Given the description of an element on the screen output the (x, y) to click on. 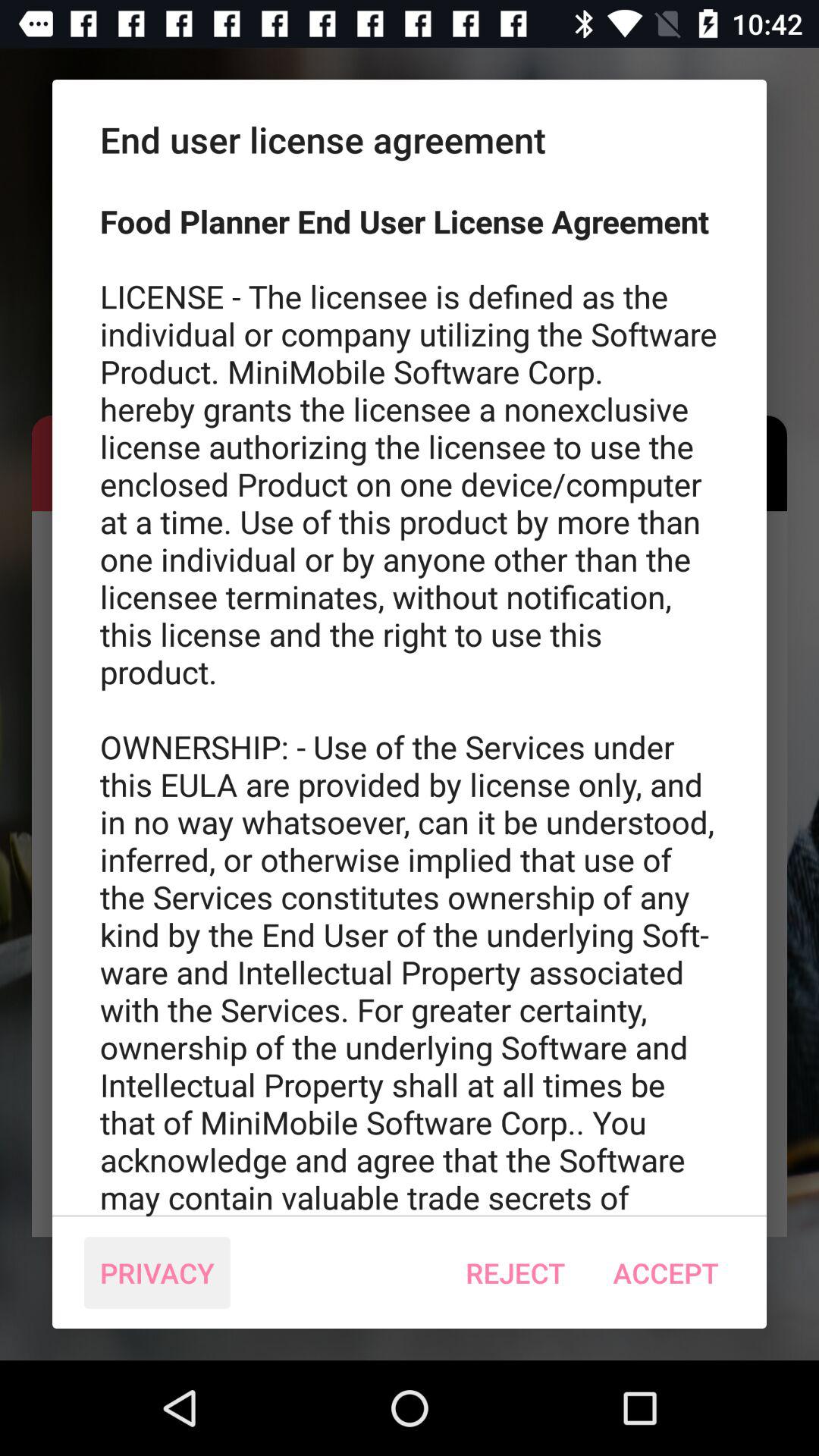
press the icon next to the accept icon (515, 1272)
